Given the description of an element on the screen output the (x, y) to click on. 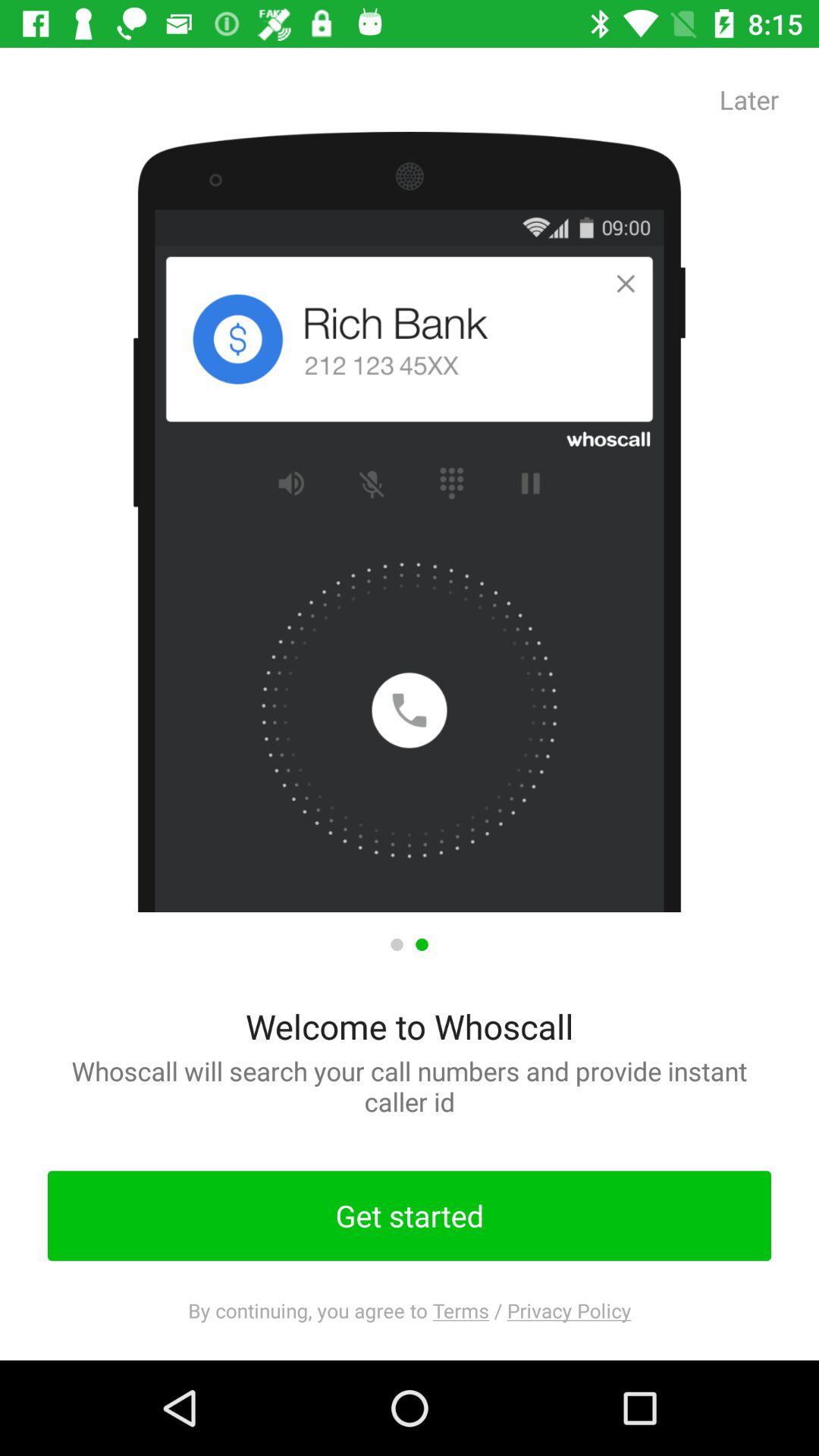
choose the item above the by continuing you app (409, 1215)
